Given the description of an element on the screen output the (x, y) to click on. 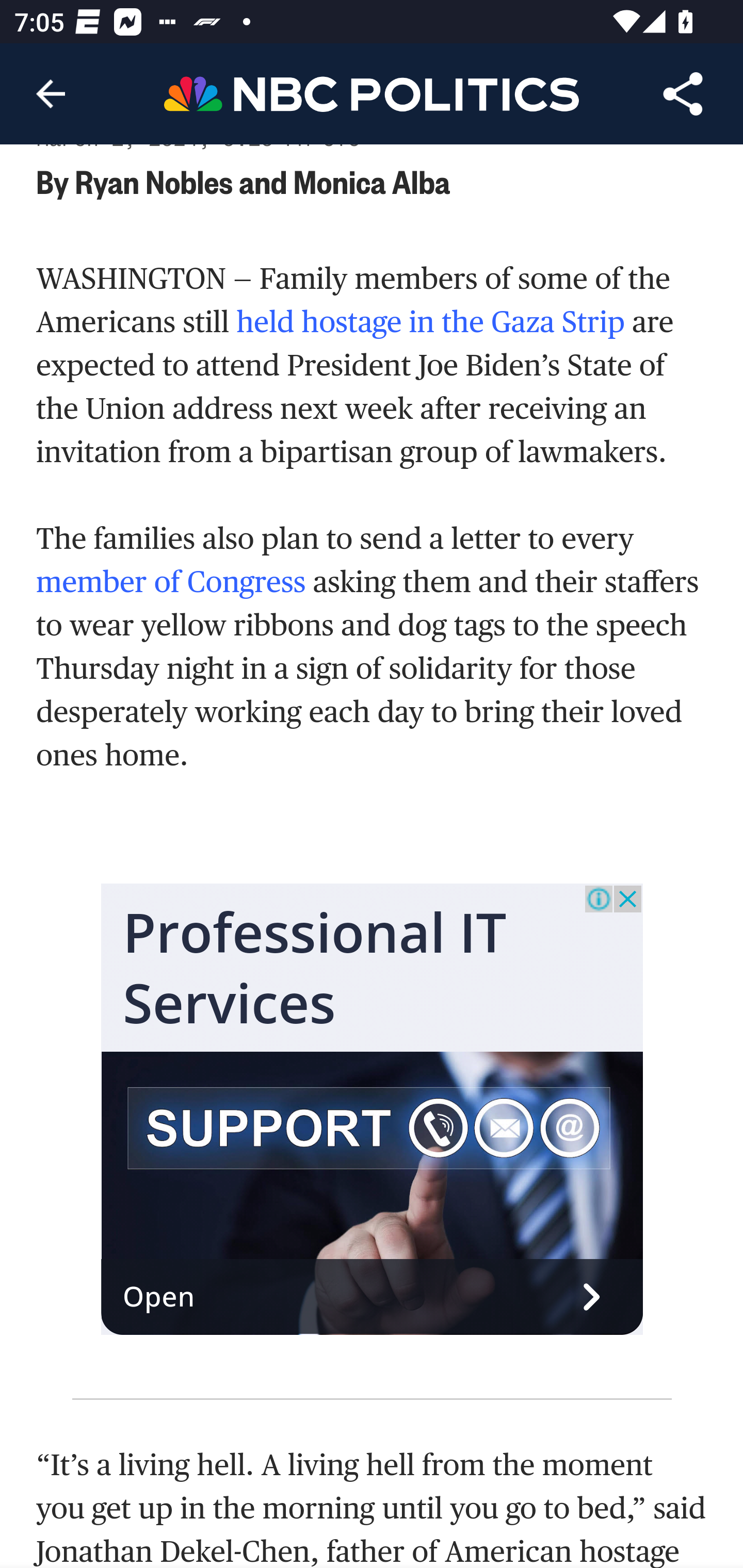
Navigate up (50, 93)
Share Article, button (683, 94)
Header, NBC Politics (371, 93)
held hostage in the Gaza Strip (430, 322)
member of Congress (171, 582)
Professional IT Services Professional IT Services (314, 968)
Open (372, 1297)
